Given the description of an element on the screen output the (x, y) to click on. 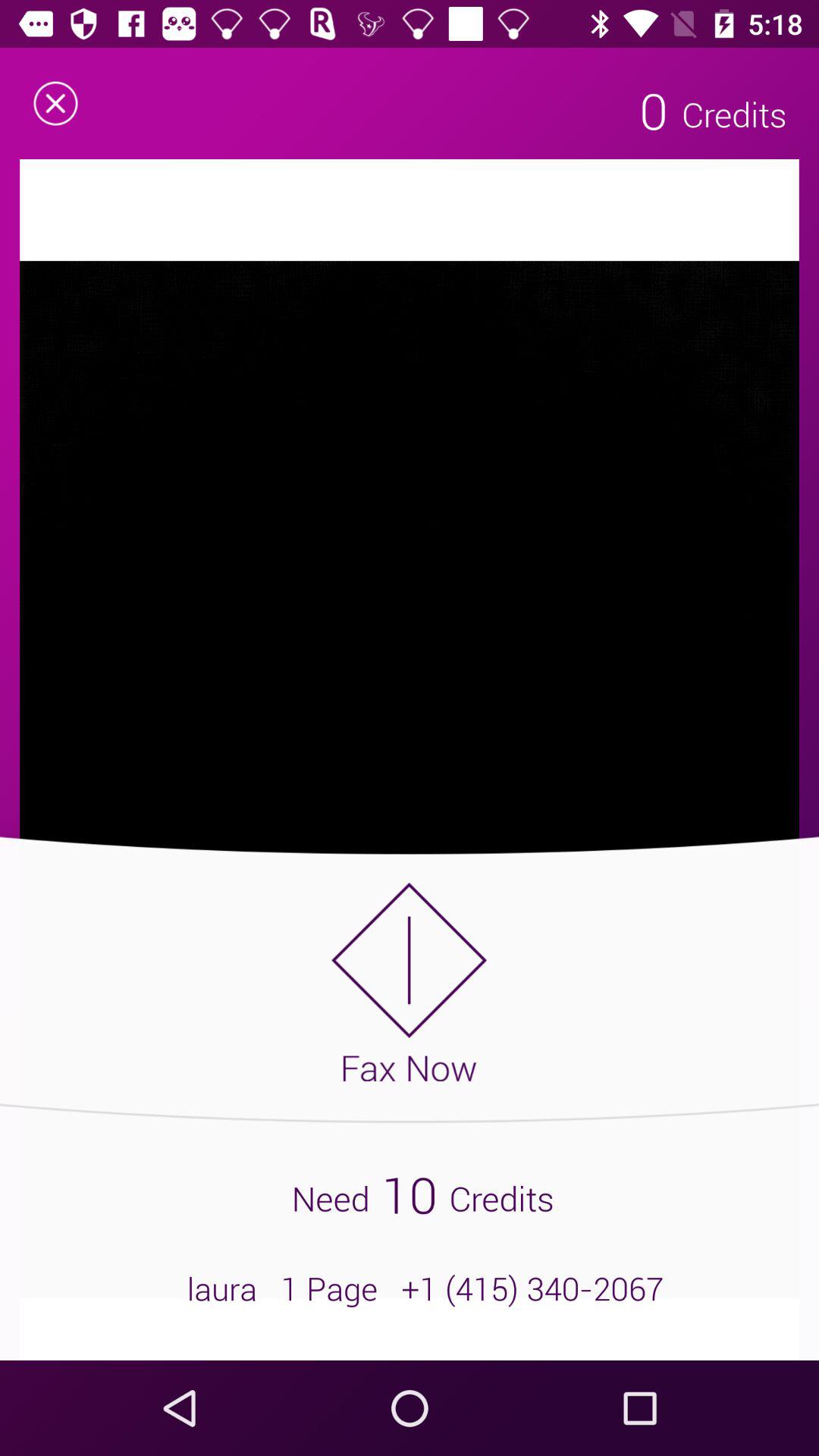
launch the app above the  10 (408, 981)
